Given the description of an element on the screen output the (x, y) to click on. 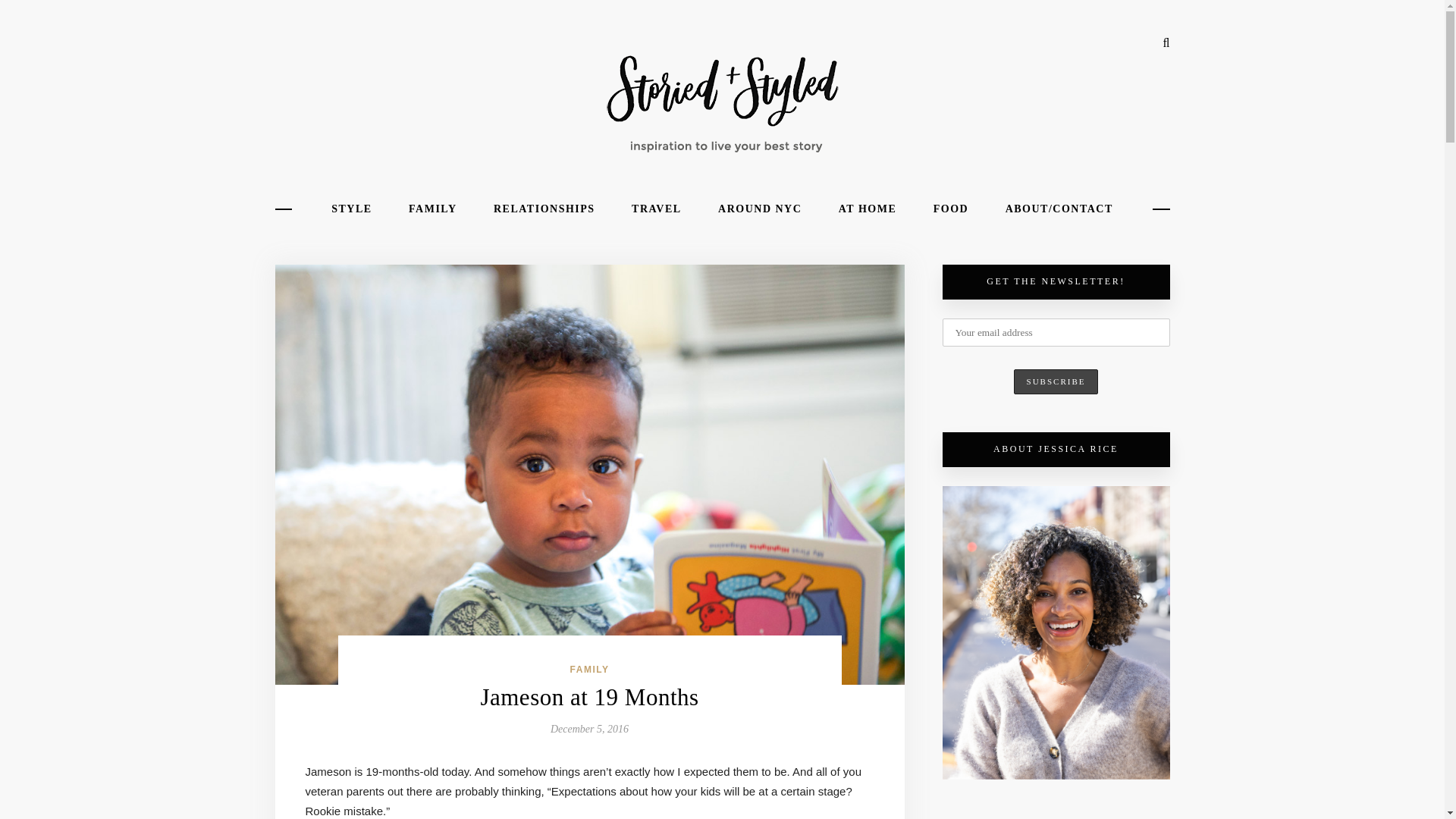
AROUND NYC (759, 209)
SUBSCRIBE (1056, 381)
TRAVEL (656, 209)
STYLE (351, 209)
FAMILY (590, 669)
RELATIONSHIPS (544, 209)
December 5, 2016 (589, 728)
AT HOME (867, 209)
FAMILY (433, 209)
